Given the description of an element on the screen output the (x, y) to click on. 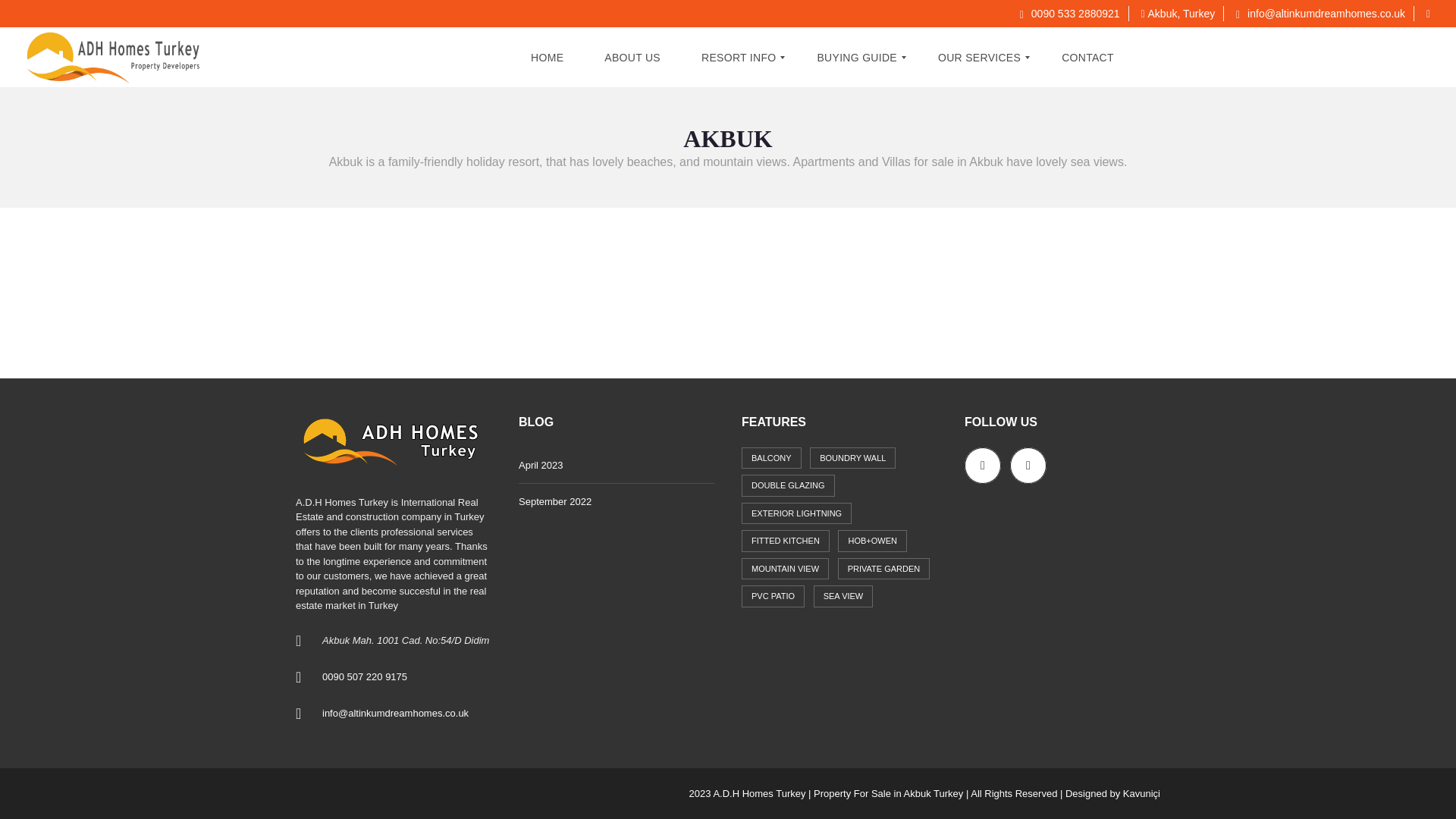
PRIVATE GARDEN (884, 568)
BUYING GUIDE (856, 57)
CONTACT (1087, 57)
BOUNDRY WALL (852, 458)
EXTERIOR LIGHTNING (796, 513)
0090 507 220 9175 (364, 675)
MOUNTAIN VIEW (784, 568)
OUR SERVICES (978, 57)
September 2022 (616, 502)
0090 533 2880921 (1069, 13)
